Given the description of an element on the screen output the (x, y) to click on. 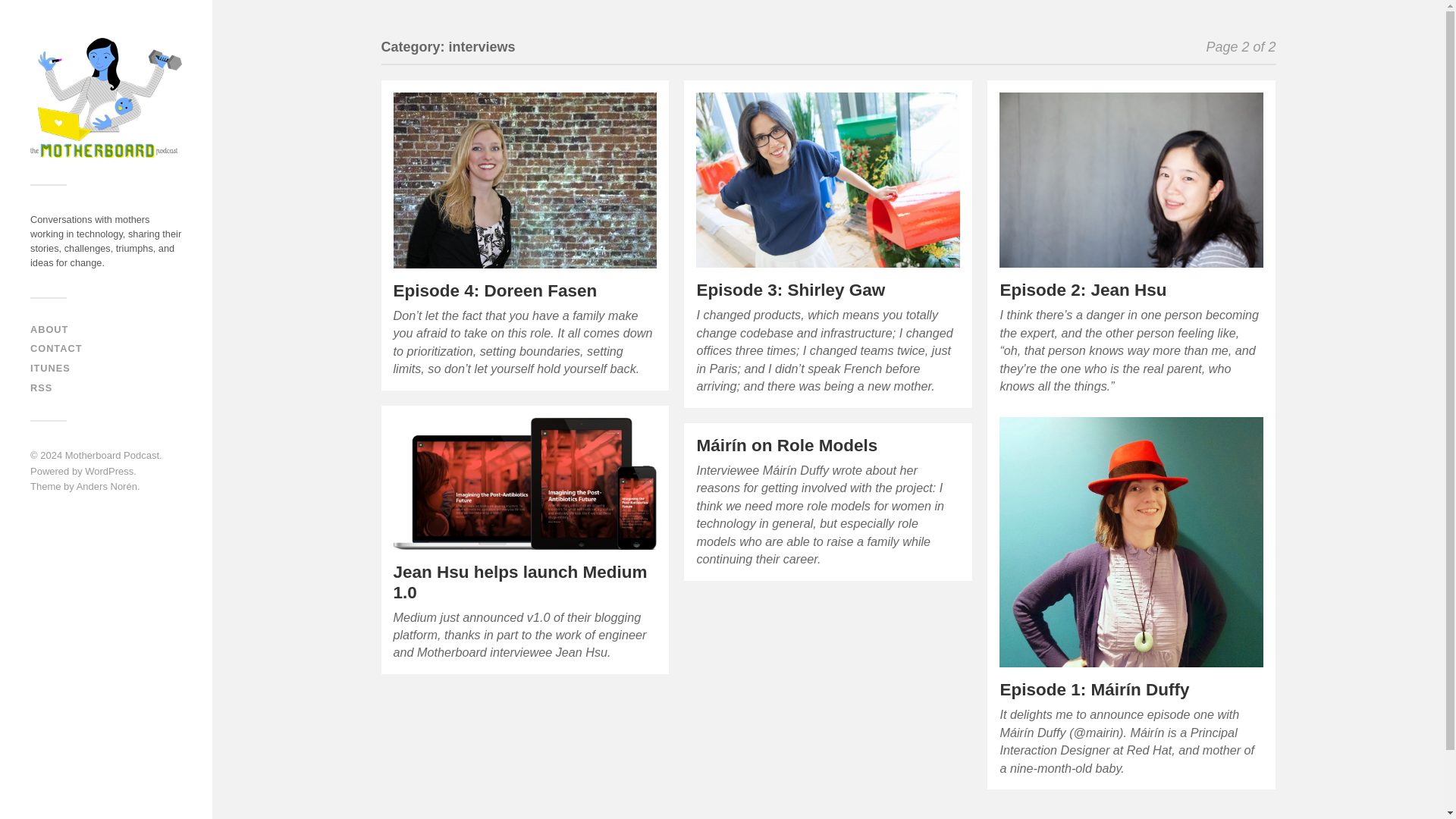
Jean Hsu helps launch Medium 1.0 (519, 581)
ITUNES (49, 367)
Motherboard Podcast (111, 455)
Episode 2: Jean Hsu (1130, 180)
RSS (41, 387)
Episode 3: Shirley Gaw (790, 289)
Episode 4: Doreen Fasen (524, 180)
Episode 4: Doreen Fasen (494, 290)
Episode 3: Shirley Gaw (827, 180)
WordPress (108, 471)
Jean Hsu helps launch Medium 1.0 (519, 581)
CONTACT (55, 348)
ABOUT (49, 328)
Episode 3: Shirley Gaw (790, 289)
Jean Hsu helps launch Medium 1.0 (524, 483)
